Given the description of an element on the screen output the (x, y) to click on. 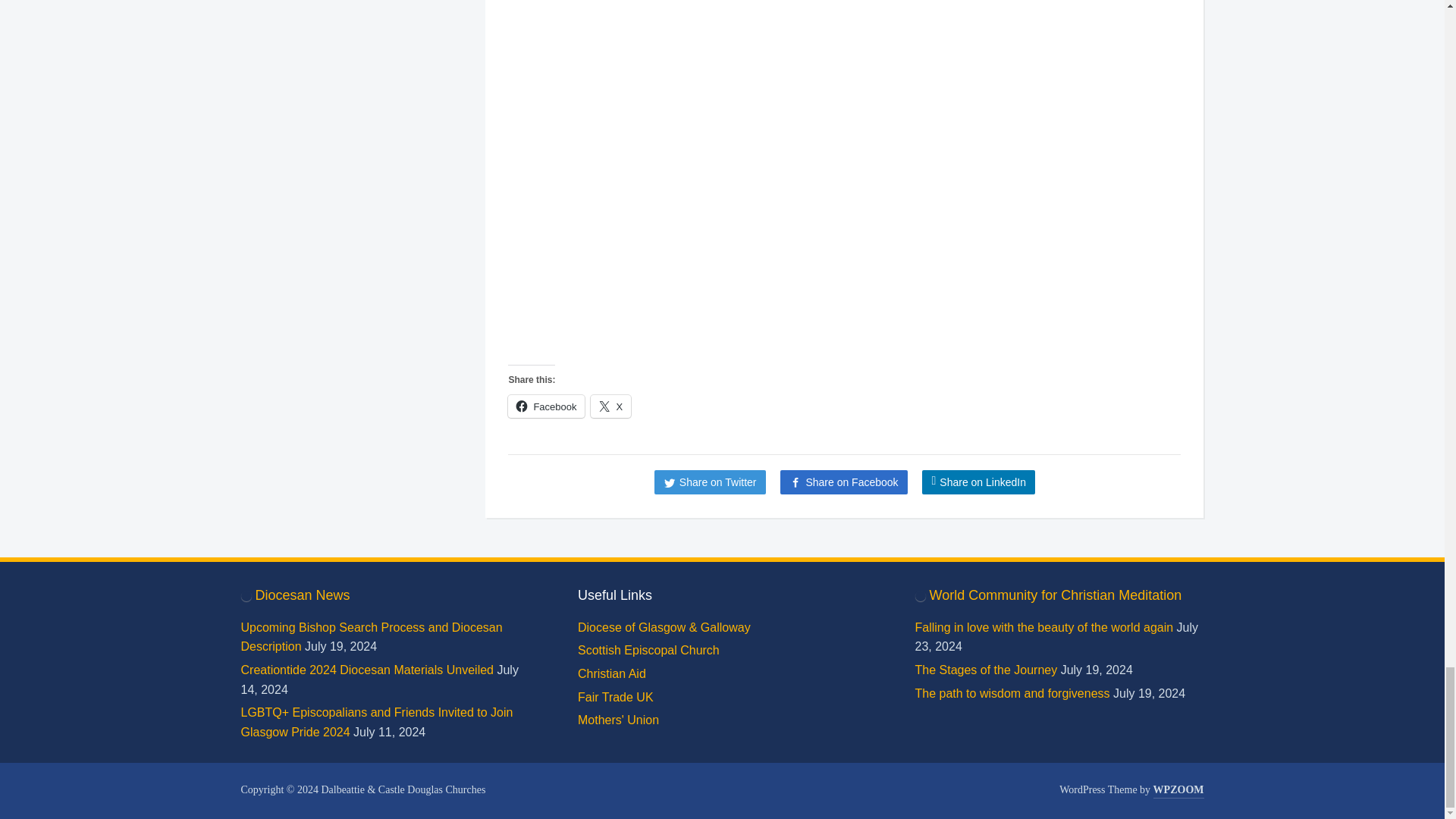
Click to share on X (610, 405)
Click to share on Facebook (546, 405)
Share this on Facebook (843, 482)
window11 (677, 174)
window2 (1013, 174)
Tweet this on Twitter (709, 482)
